Given the description of an element on the screen output the (x, y) to click on. 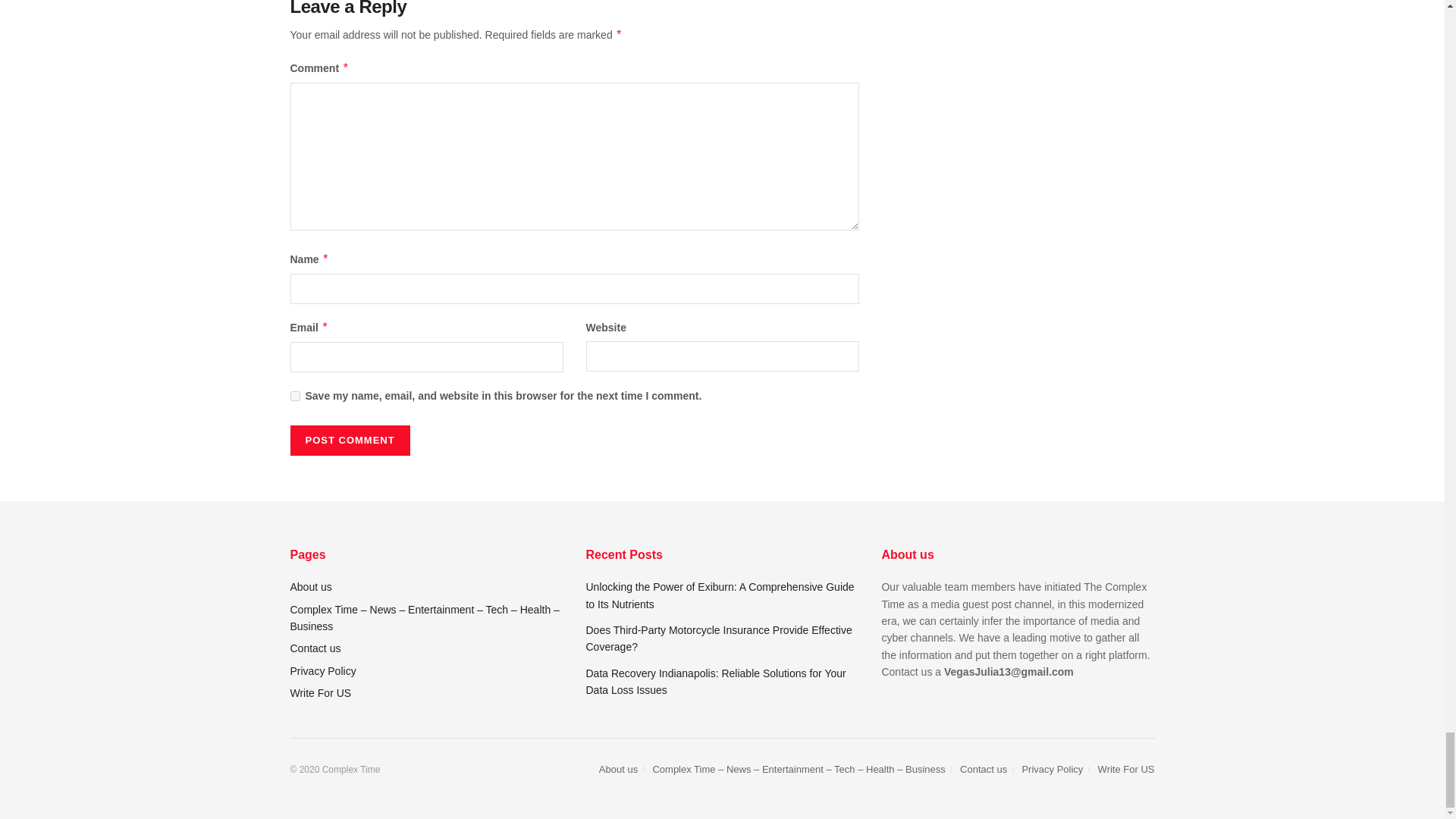
yes (294, 396)
Post Comment (349, 440)
